Given the description of an element on the screen output the (x, y) to click on. 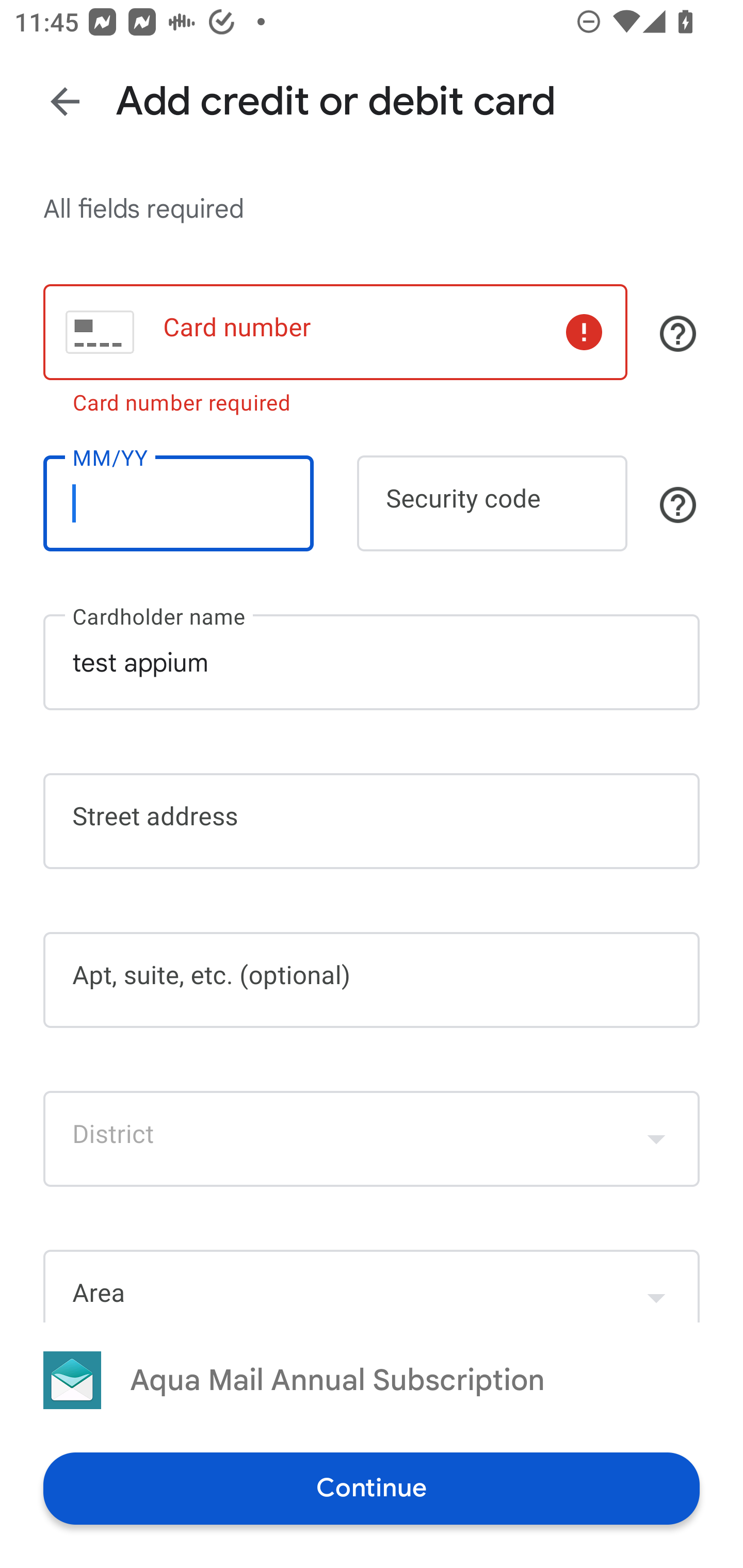
Back (64, 101)
Card number (335, 331)
Button, shows cards that are accepted for payment (677, 333)
Expiration date, 2 digit month, 2 digit year (178, 510)
Security code (492, 502)
Security code help (677, 504)
test appium (371, 662)
Street address (371, 820)
Apt, suite, etc. (optional) (371, 979)
District (371, 1138)
Show dropdown menu (655, 1139)
Area (371, 1285)
Show dropdown menu (655, 1287)
Continue (371, 1487)
